Given the description of an element on the screen output the (x, y) to click on. 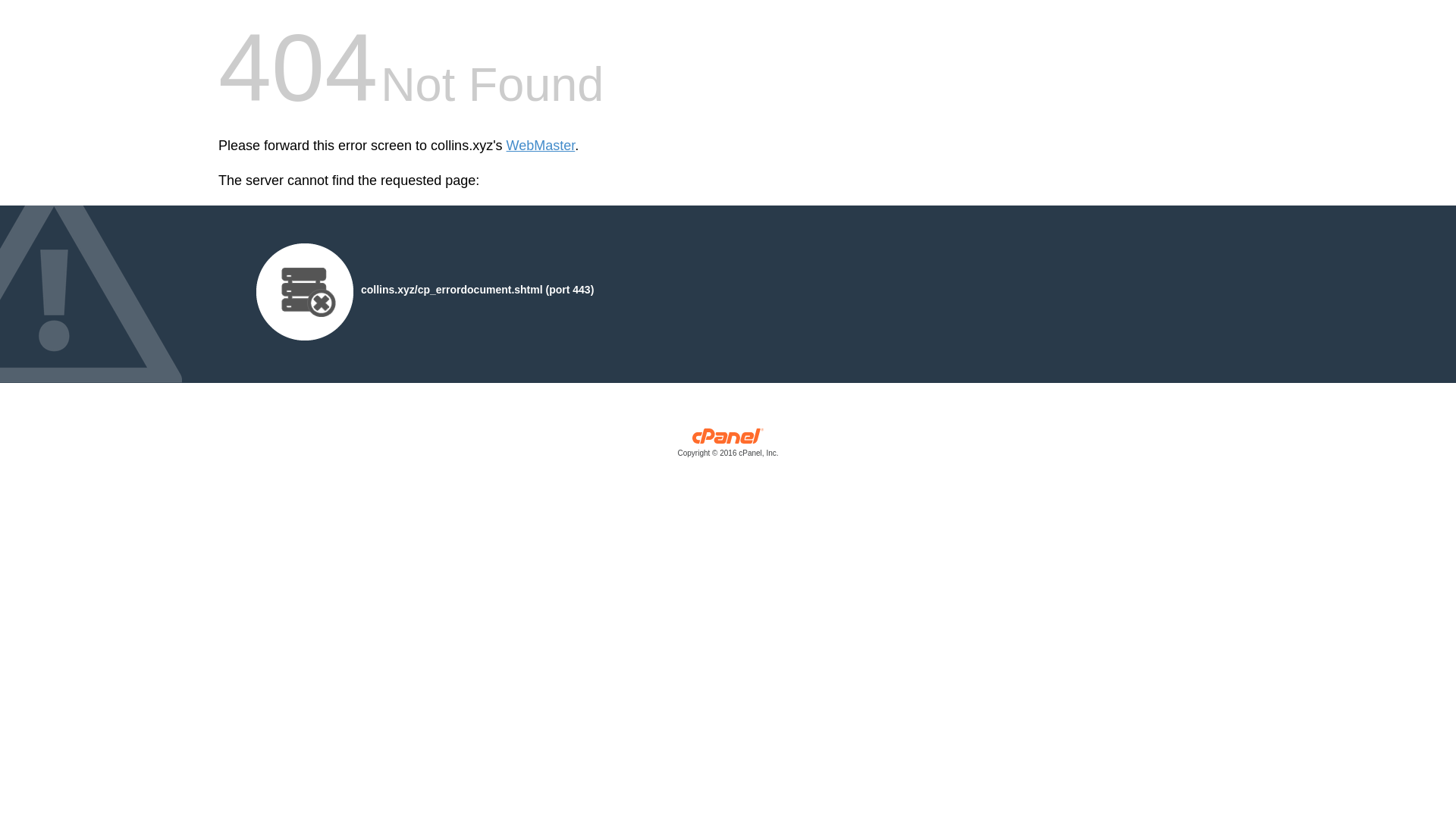
cPanel, Inc. (727, 446)
WebMaster (540, 145)
